Given the description of an element on the screen output the (x, y) to click on. 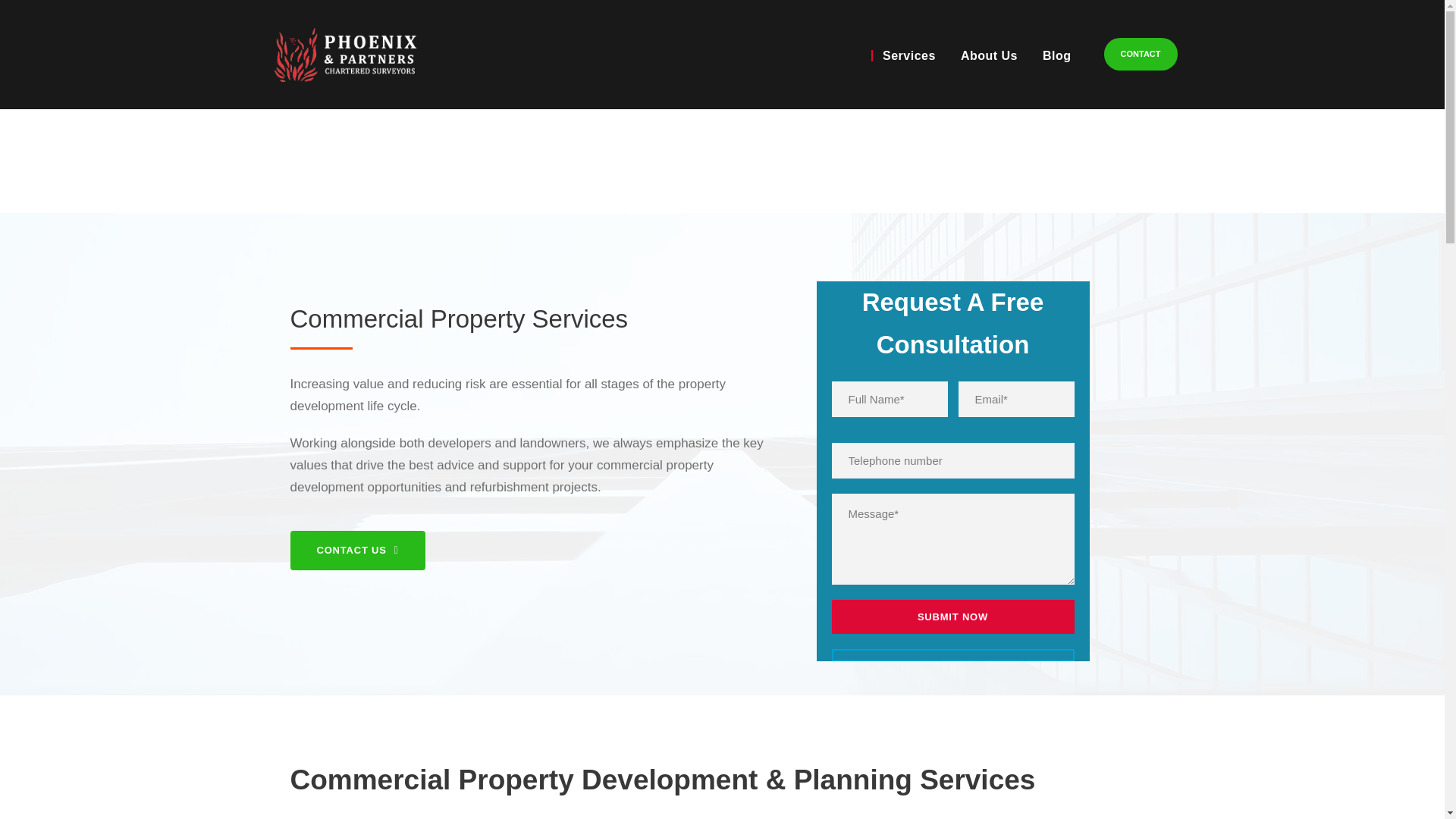
Submit Now (952, 616)
CONTACT (1140, 53)
About Us (983, 55)
Submit Now (952, 616)
Blog (1050, 55)
CONTACT US (357, 550)
Services (903, 55)
